Given the description of an element on the screen output the (x, y) to click on. 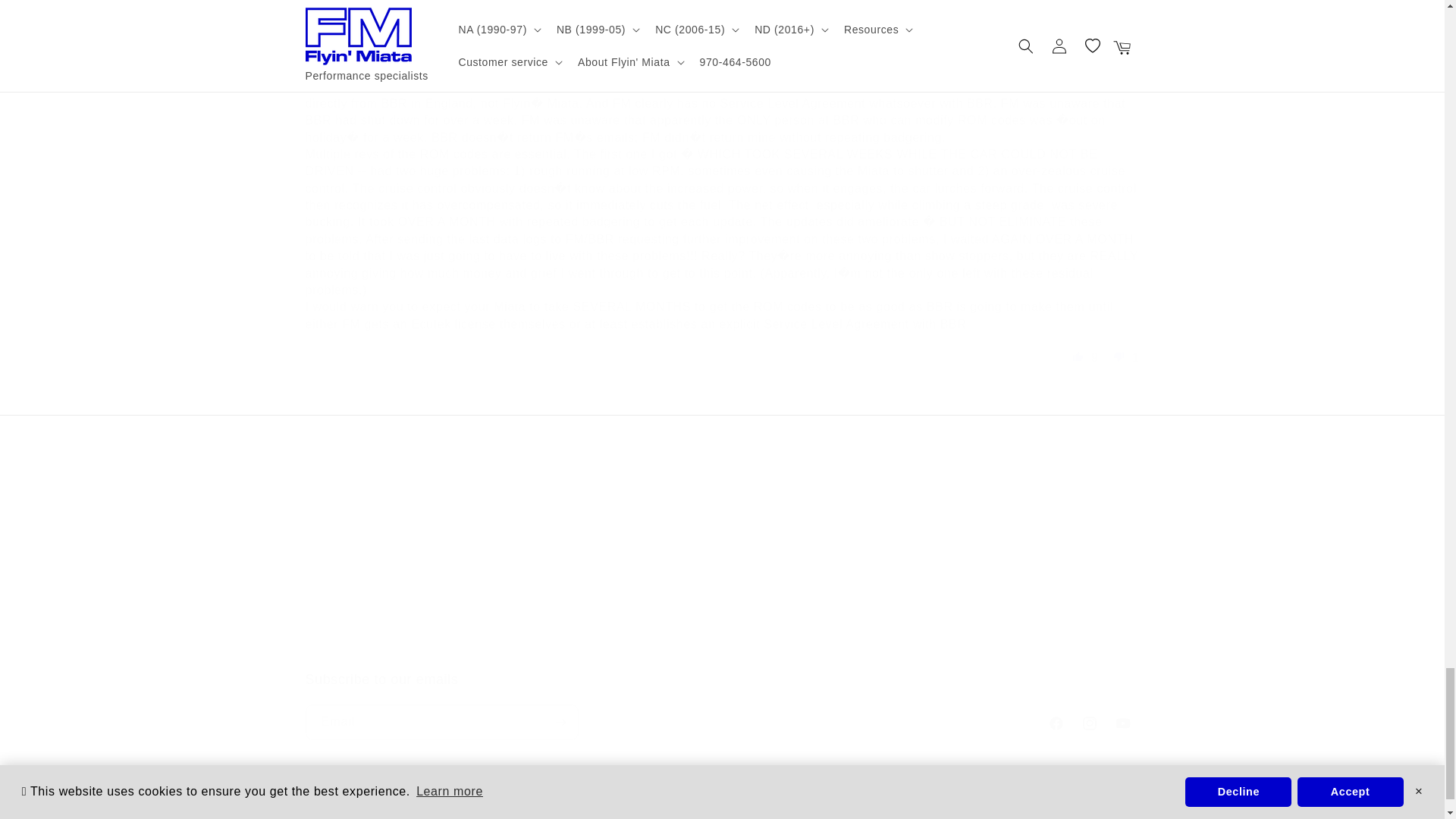
down (721, 704)
up (1119, 355)
